Given the description of an element on the screen output the (x, y) to click on. 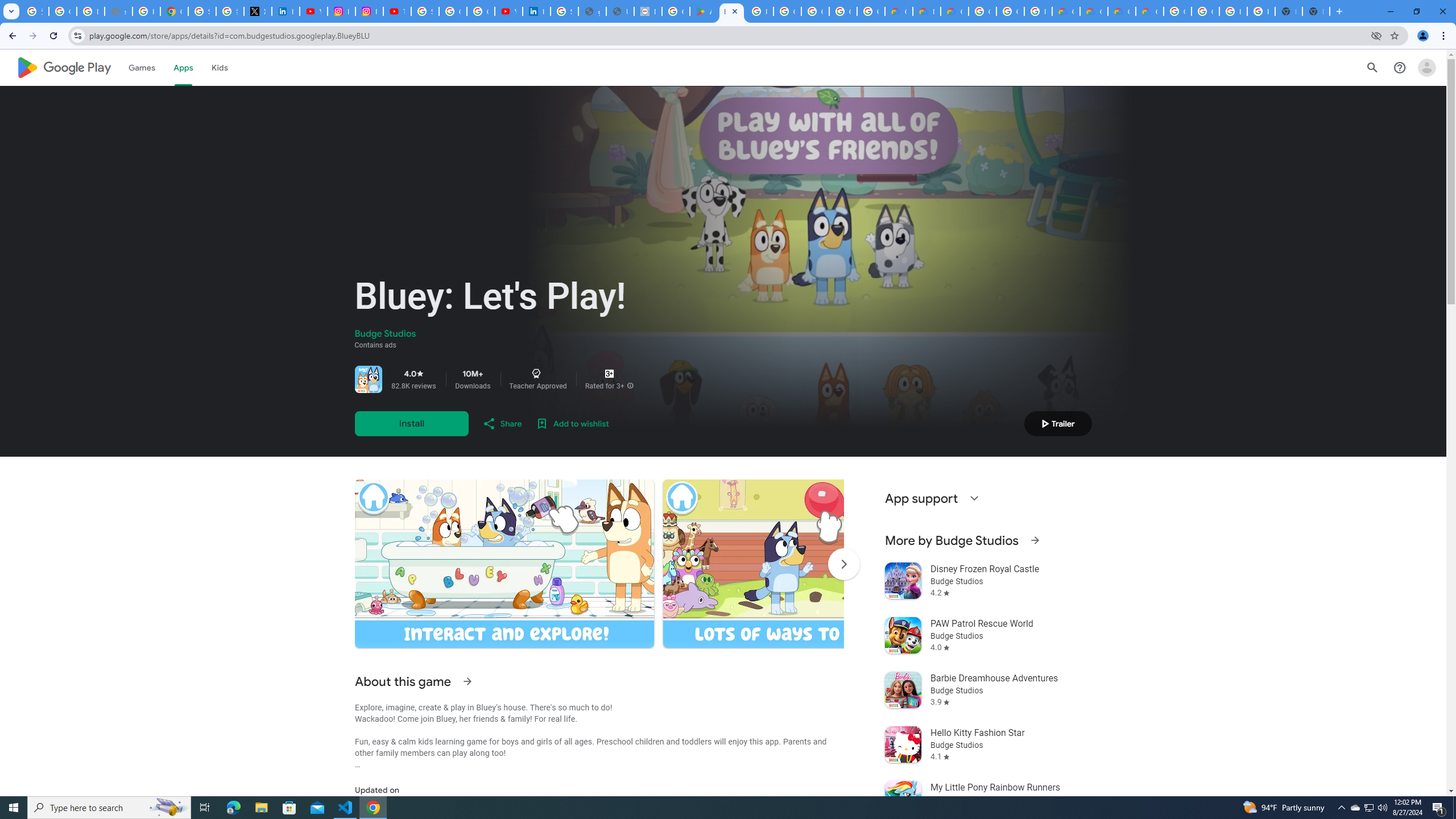
Android Apps on Google Play (703, 11)
Google Cloud Pricing Calculator (1093, 11)
Google Workspace - Specific Terms (870, 11)
Share (502, 422)
Customer Care | Google Cloud (898, 11)
X (257, 11)
Budge Studios (384, 333)
